Given the description of an element on the screen output the (x, y) to click on. 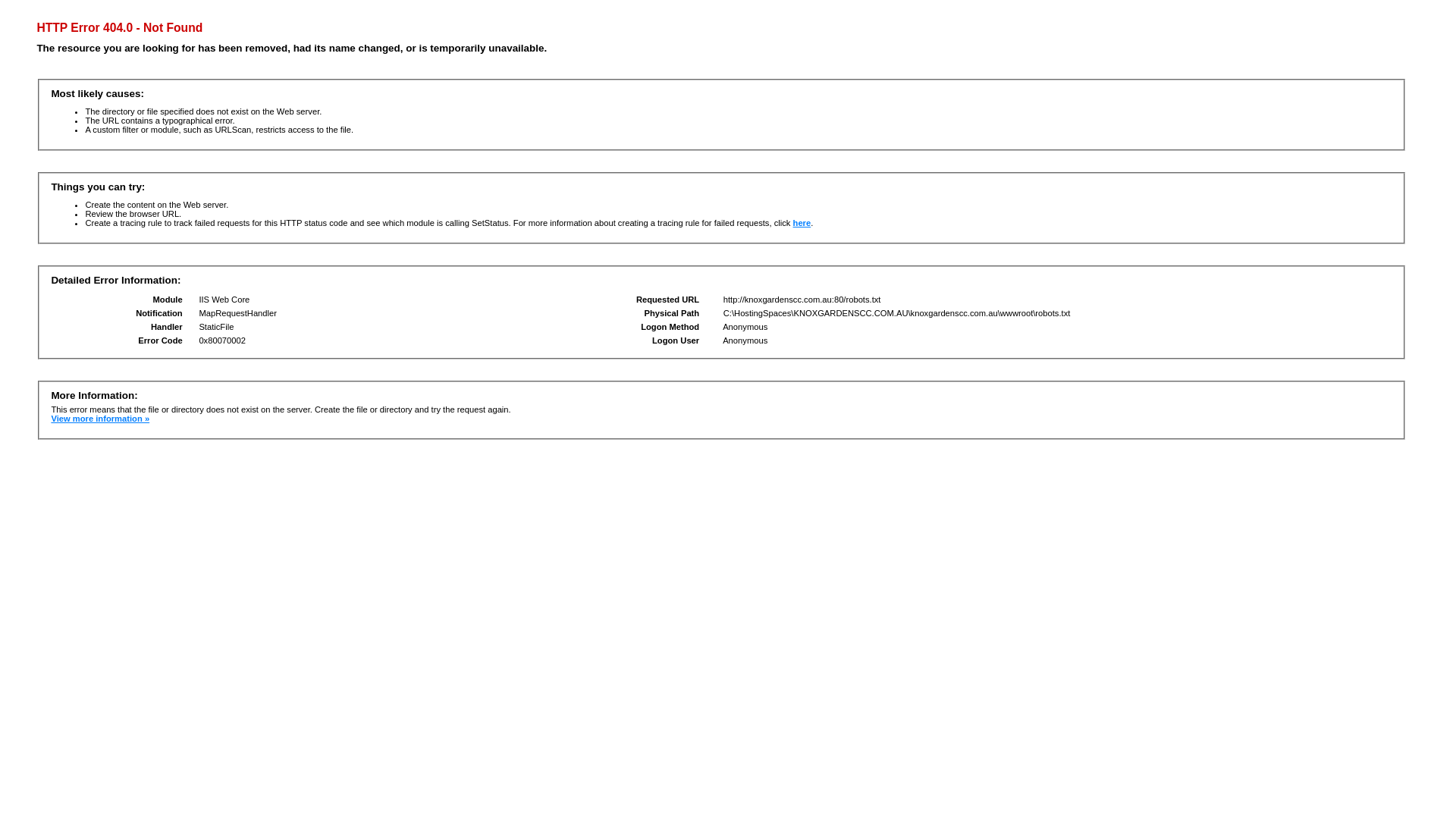
here Element type: text (802, 222)
